Given the description of an element on the screen output the (x, y) to click on. 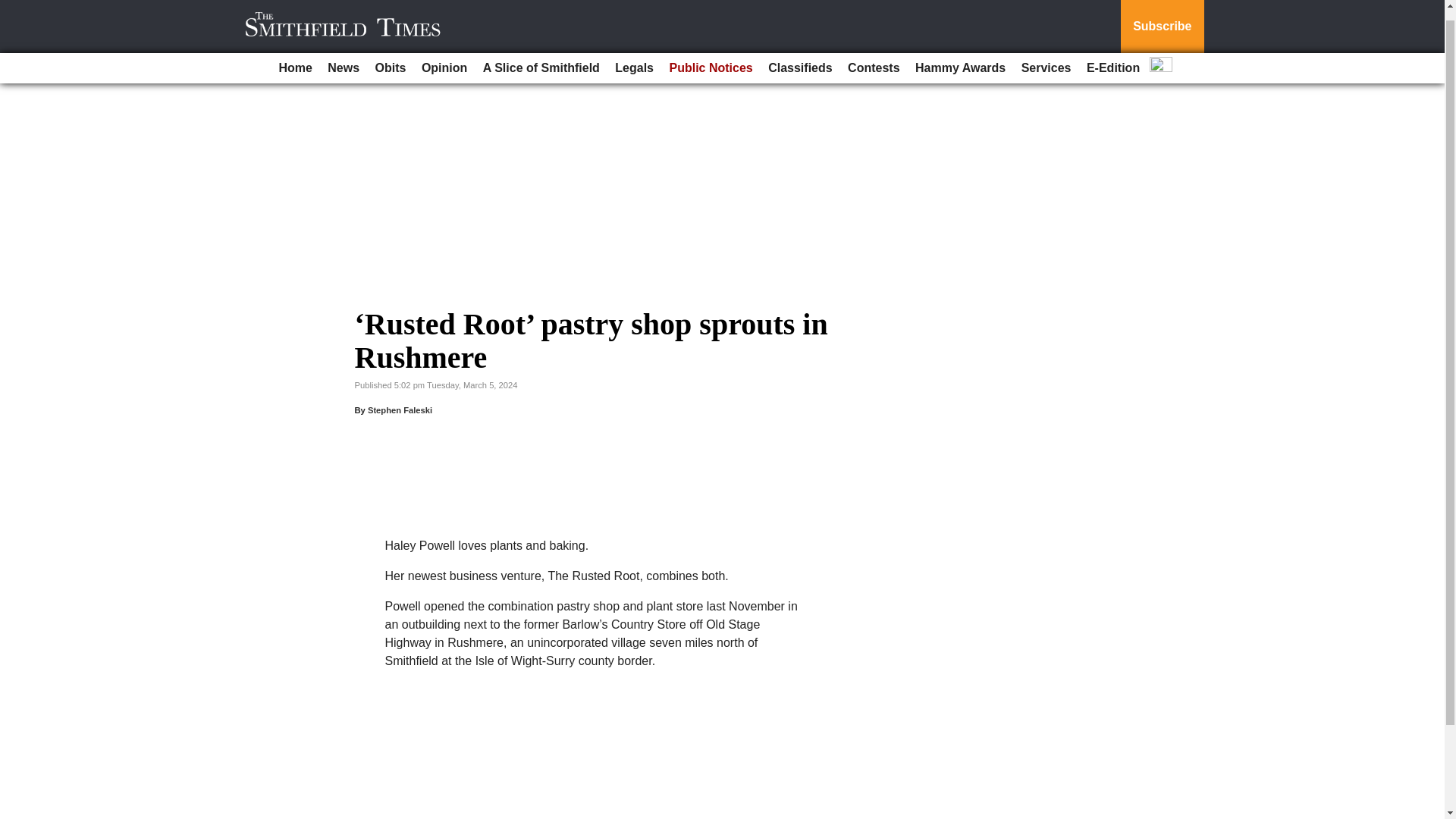
A Slice of Smithfield (541, 56)
Obits (390, 56)
Go (13, 3)
Subscribe (1162, 20)
Stephen Faleski (400, 409)
Legals (633, 56)
Opinion (443, 56)
Home (294, 56)
Services (1045, 56)
Public Notices (710, 56)
News (343, 56)
Contests (873, 56)
Classifieds (799, 56)
E-Edition (1112, 56)
Hammy Awards (959, 56)
